Given the description of an element on the screen output the (x, y) to click on. 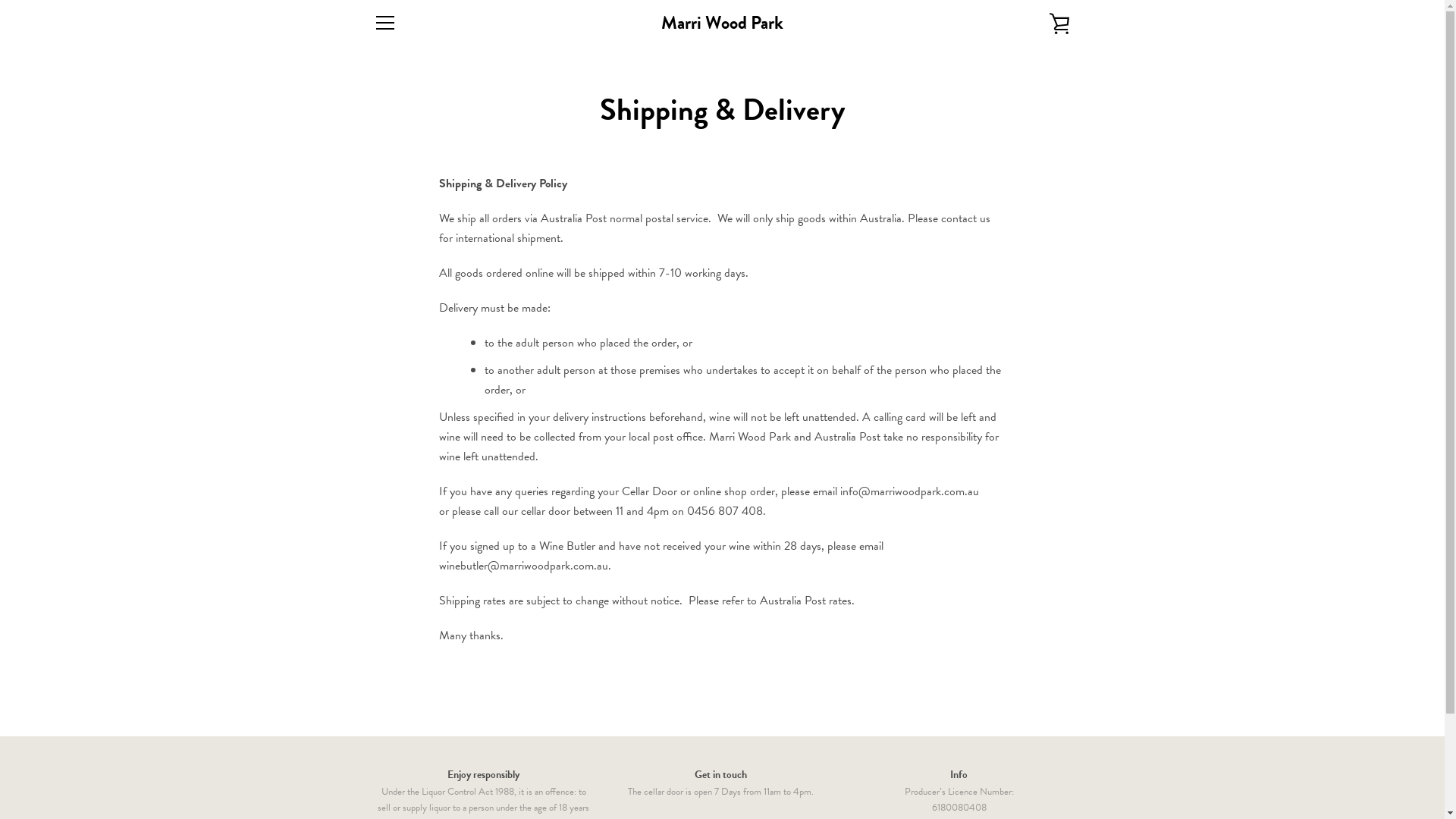
Skip to content Element type: text (0, 0)
MENU Element type: text (384, 22)
VIEW CART Element type: text (1059, 22)
Marri Wood Park Element type: text (721, 23)
